Given the description of an element on the screen output the (x, y) to click on. 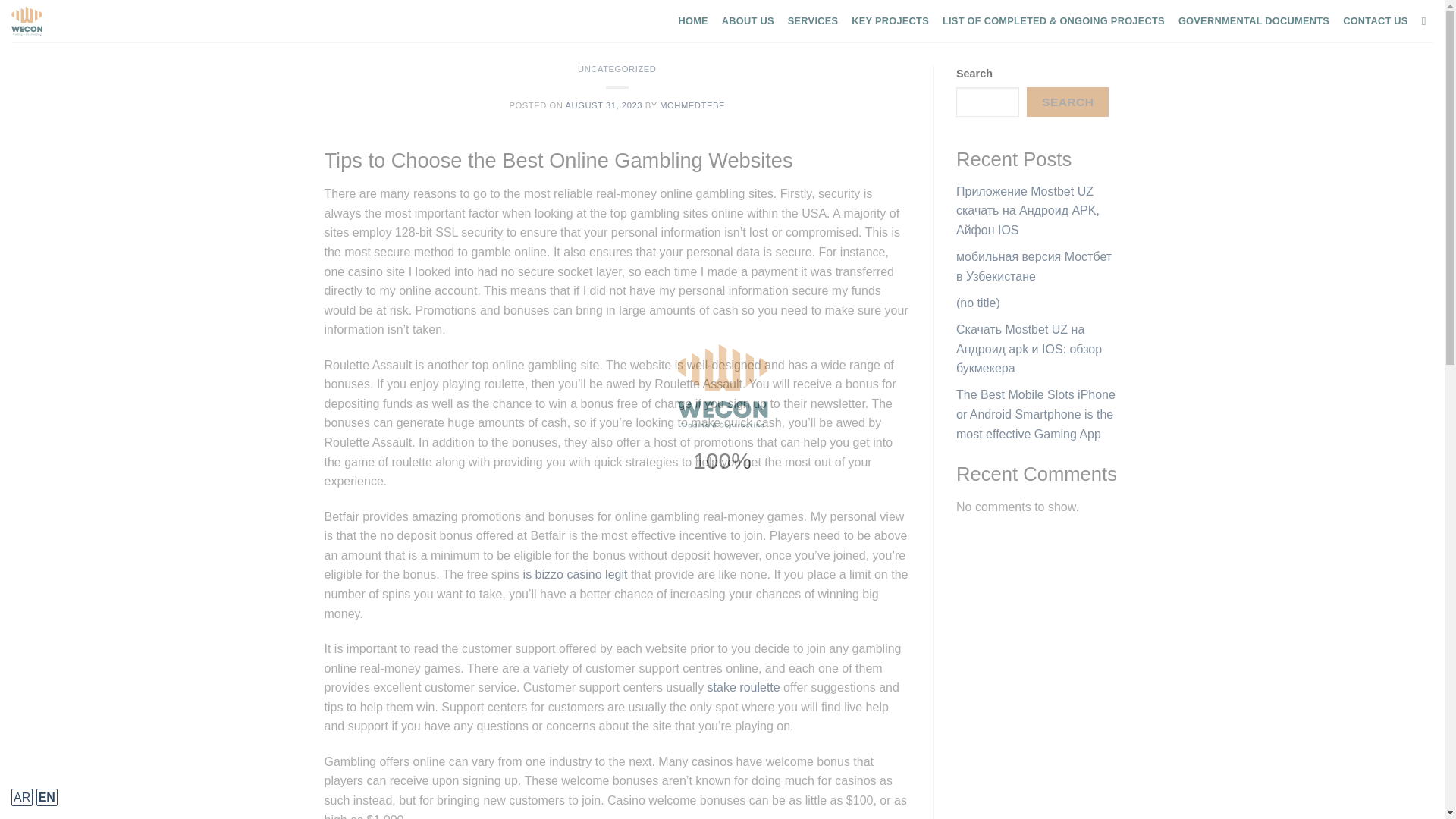
ABOUT US (748, 21)
HOME (692, 21)
WECON Trading and Contracting - Trading and Contracting (65, 21)
UNCATEGORIZED (617, 68)
KEY PROJECTS (889, 21)
GOVERNMENTAL DOCUMENTS (1253, 21)
stake roulette (743, 686)
AUGUST 31, 2023 (604, 104)
SERVICES (812, 21)
SEARCH (1067, 101)
